Given the description of an element on the screen output the (x, y) to click on. 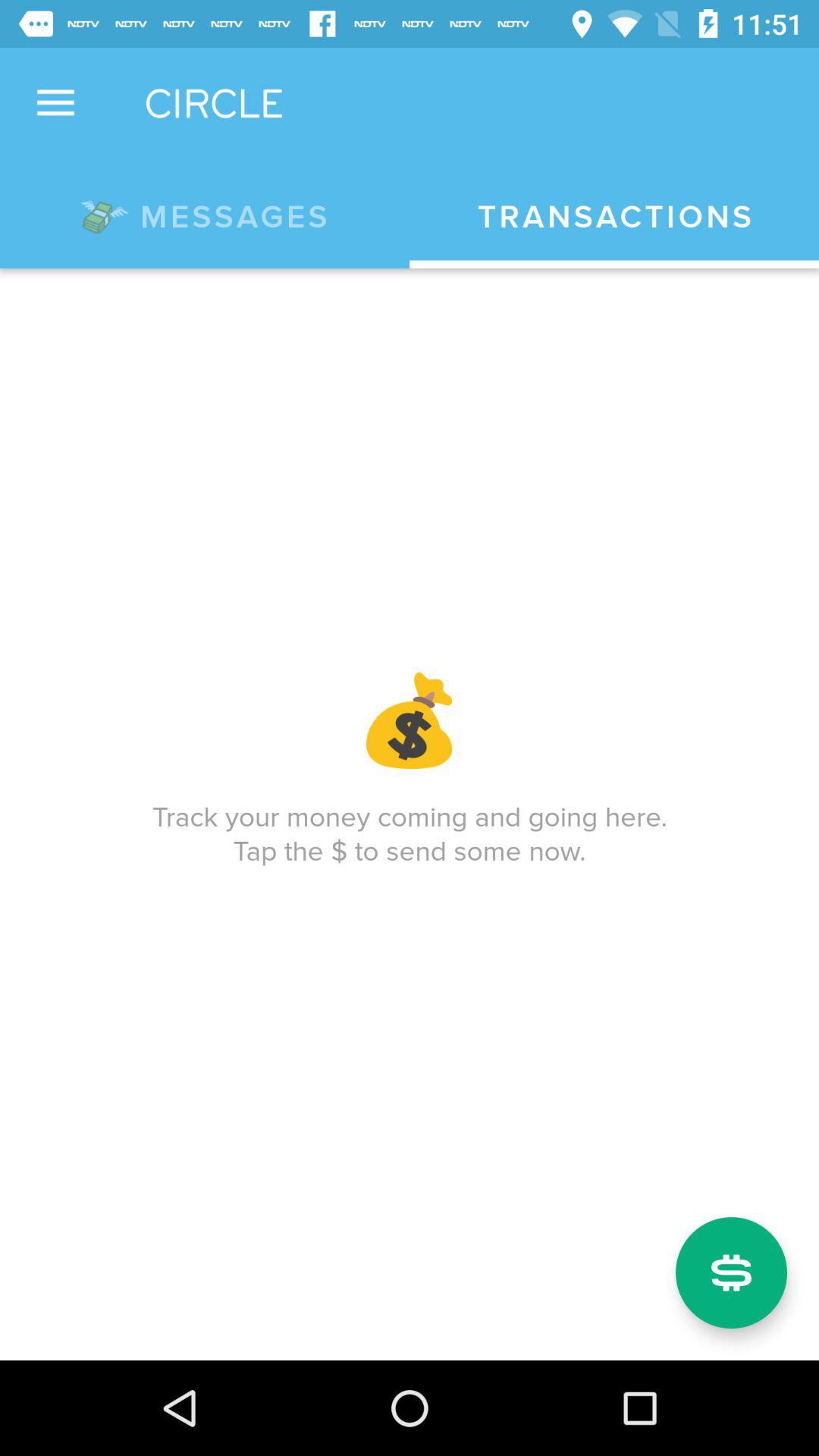
turn on app next to *messages icon (614, 217)
